Given the description of an element on the screen output the (x, y) to click on. 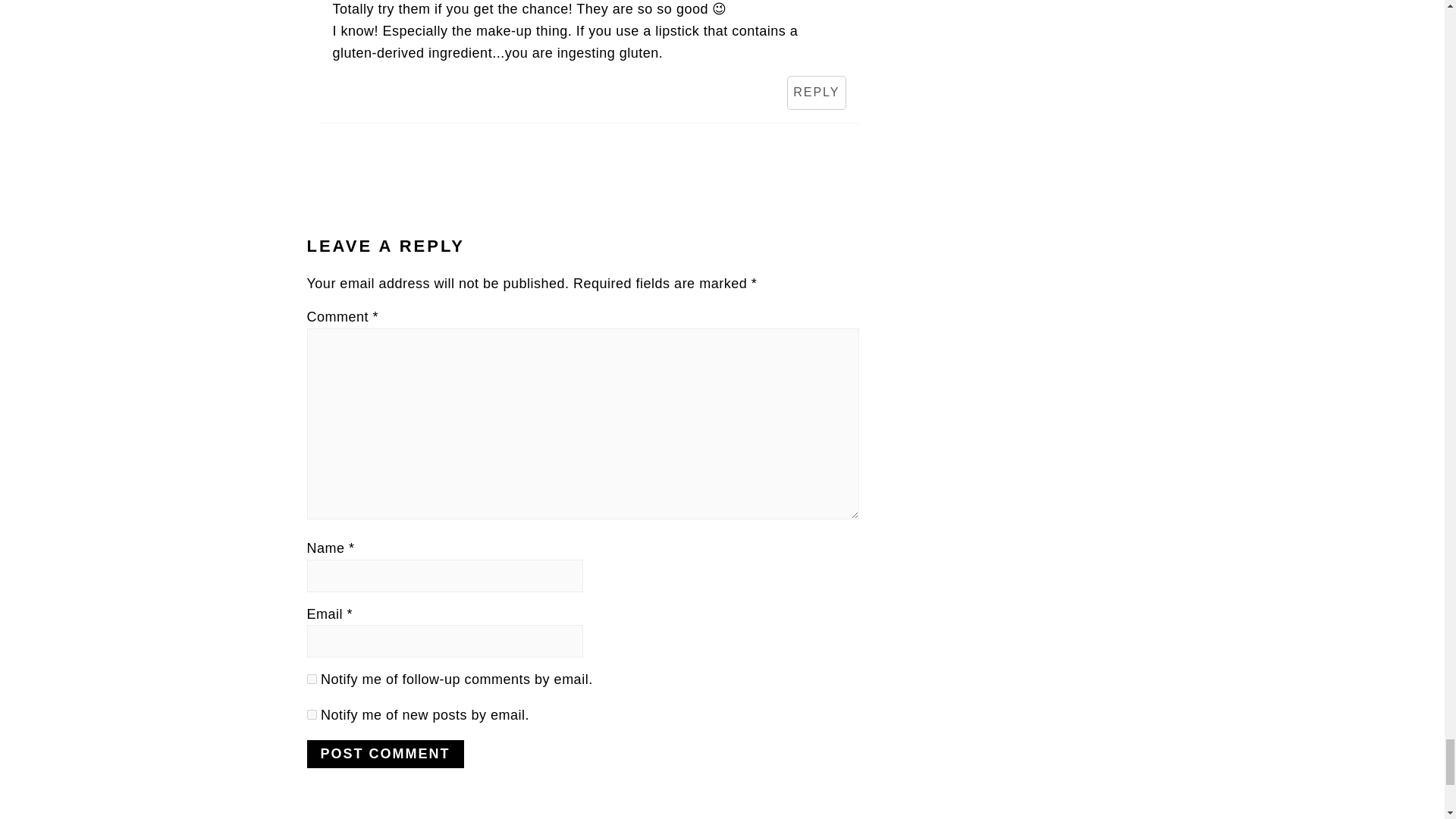
subscribe (310, 714)
subscribe (310, 678)
Post Comment (384, 754)
